Given the description of an element on the screen output the (x, y) to click on. 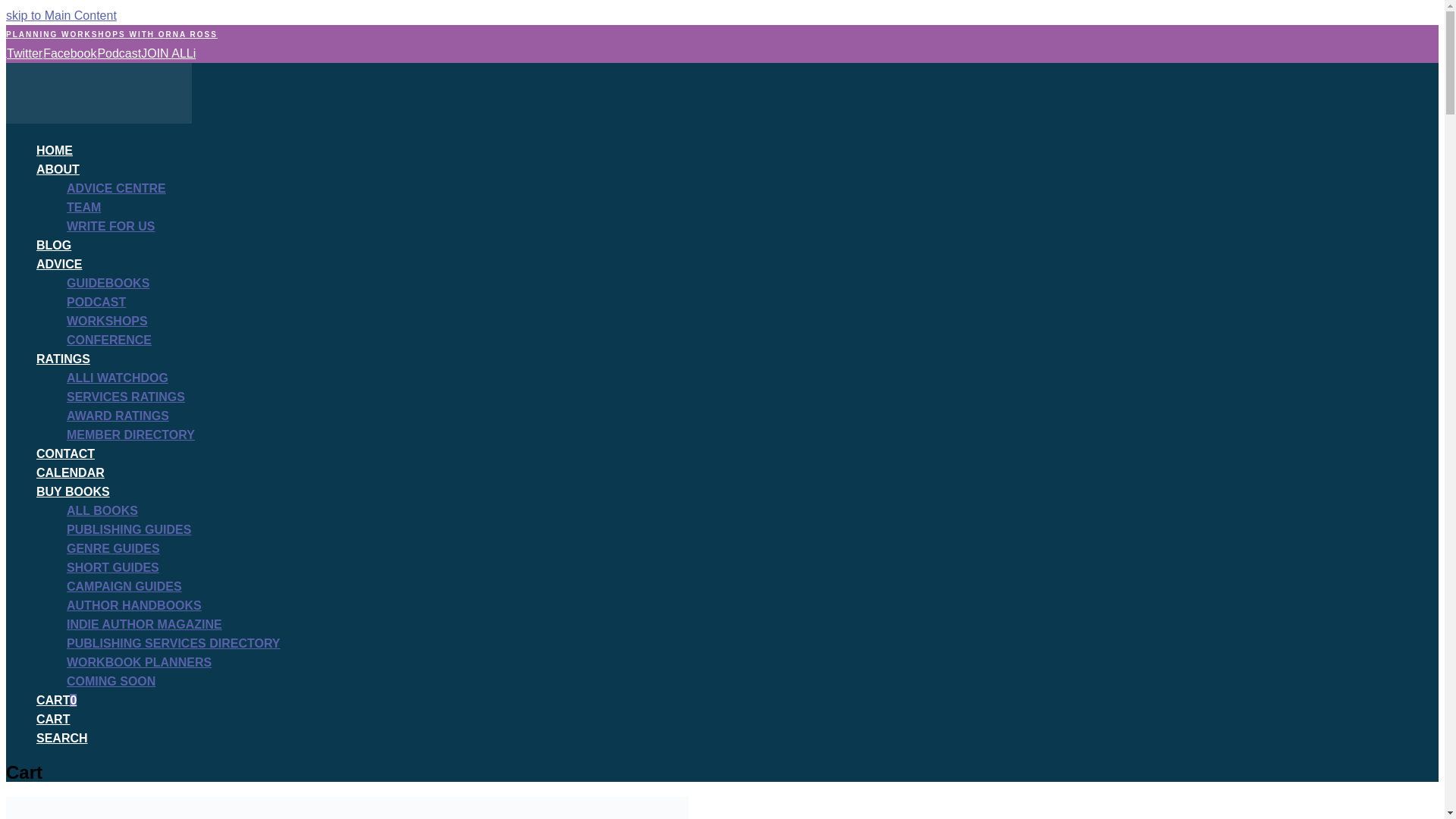
MEMBER DIRECTORY (130, 434)
GUIDEBOOKS (107, 282)
RATINGS (63, 358)
CART (52, 718)
INDIE AUTHOR MAGAZINE (144, 624)
ALL BOOKS (102, 510)
BUY BOOKS (73, 491)
GENRE GUIDES (113, 548)
ADVICE CENTRE (115, 187)
Twitter (23, 52)
Podcast (118, 52)
Twitter (23, 52)
ALLI WATCHDOG (117, 377)
SERVICES RATINGS (125, 396)
TEAM (83, 206)
